Given the description of an element on the screen output the (x, y) to click on. 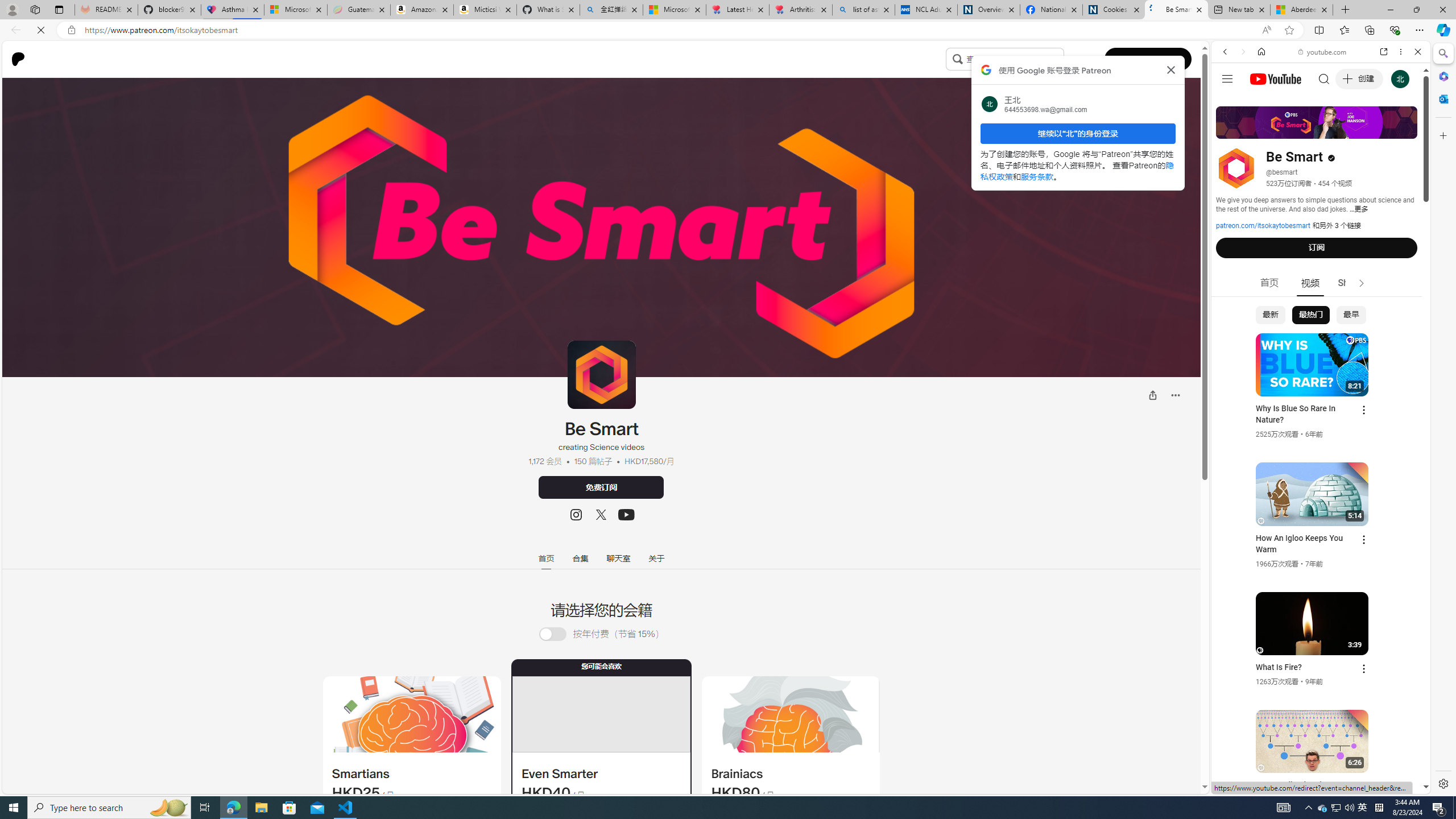
Class: sc-1a2jhmw-3 djwfLg (790, 714)
Class: sc-jrQzAO HeRcC sc-1b5vbhn-1 hqVCmM (625, 514)
Class: dict_pnIcon rms_img (1312, 784)
